Given the description of an element on the screen output the (x, y) to click on. 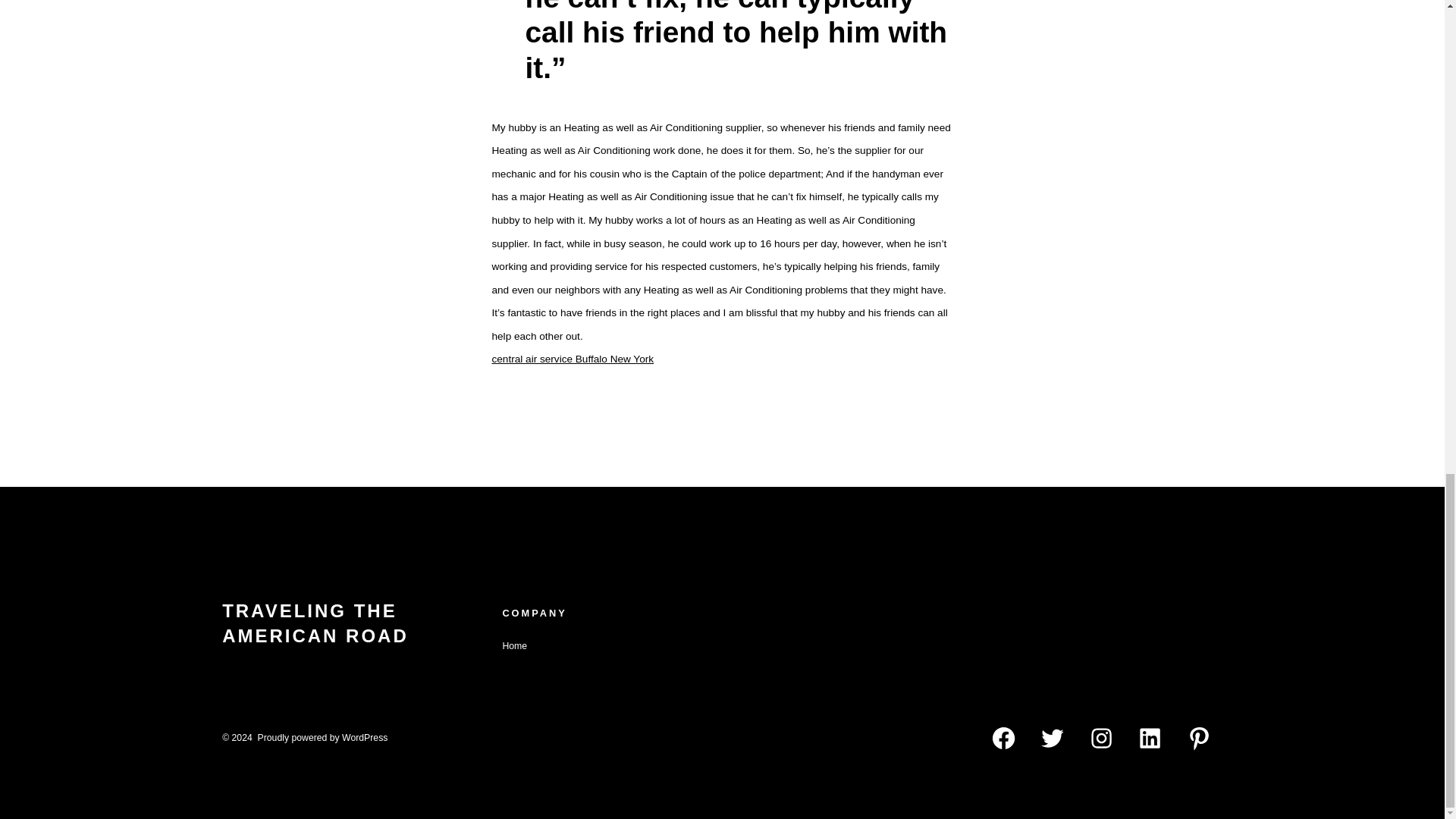
Open Twitter in a new tab (1052, 737)
Open Instagram in a new tab (1101, 737)
central air service Buffalo New York (572, 358)
Open Pinterest in a new tab (1199, 737)
TRAVELING THE AMERICAN ROAD (355, 625)
Home (514, 645)
Open Facebook in a new tab (1002, 737)
Open LinkedIn in a new tab (1149, 737)
